Given the description of an element on the screen output the (x, y) to click on. 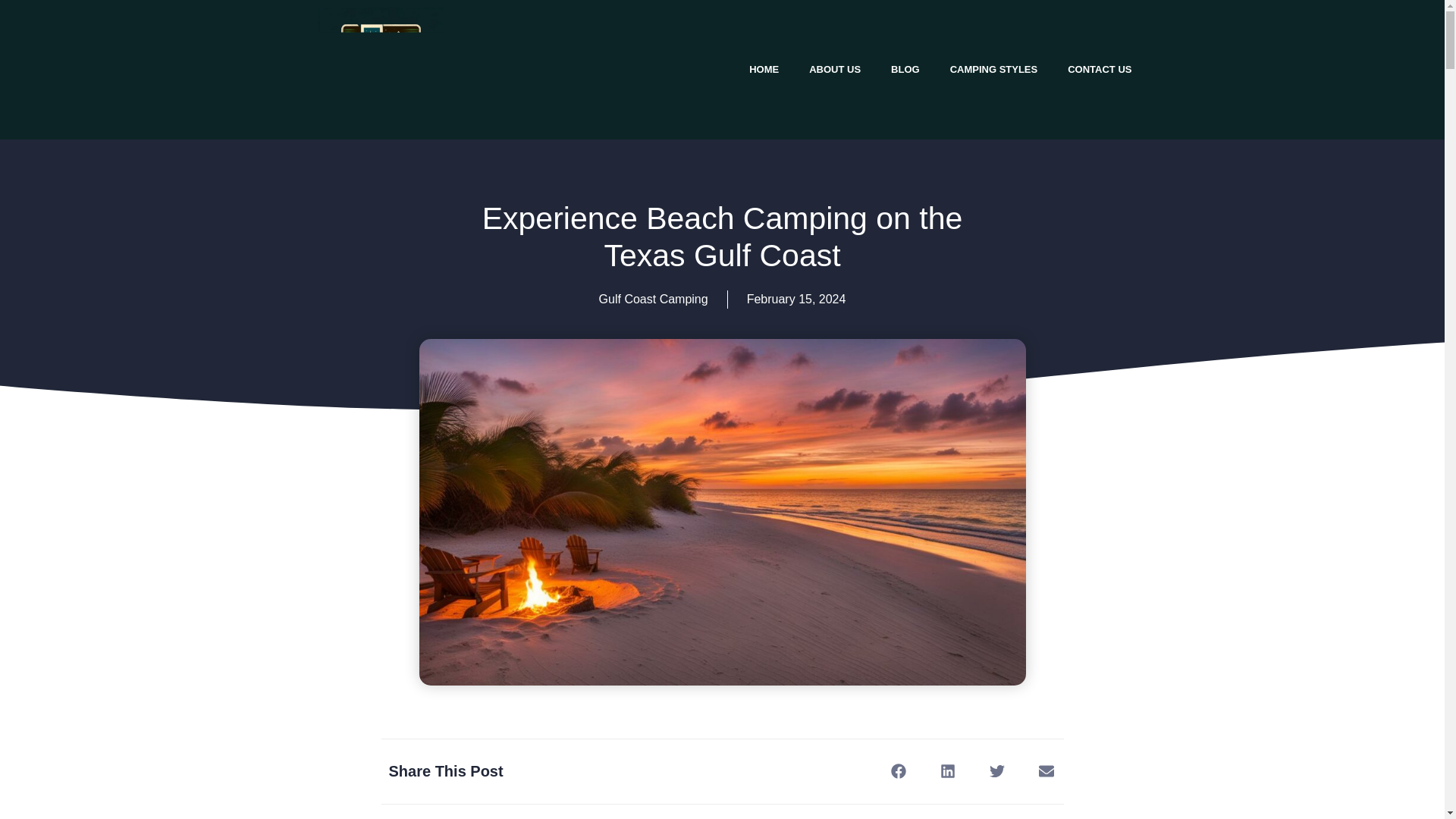
Gulf Coast Camping (652, 298)
HOME (763, 69)
CONTACT US (1099, 69)
February 15, 2024 (795, 299)
BLOG (905, 69)
CAMPING STYLES (993, 69)
ABOUT US (834, 69)
